Given the description of an element on the screen output the (x, y) to click on. 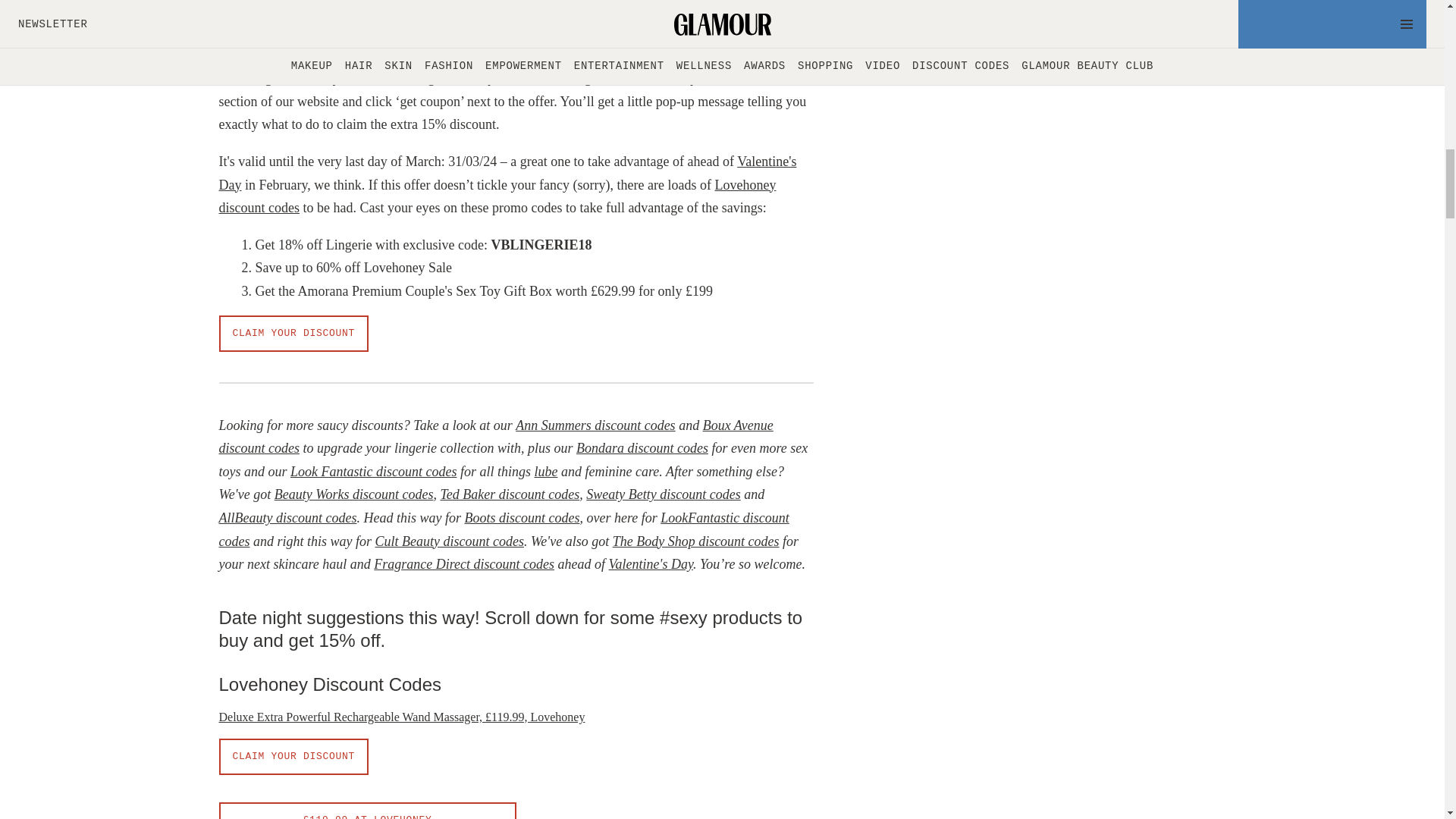
Claim Your Discount (293, 333)
Claim Your Discount (293, 756)
